Given the description of an element on the screen output the (x, y) to click on. 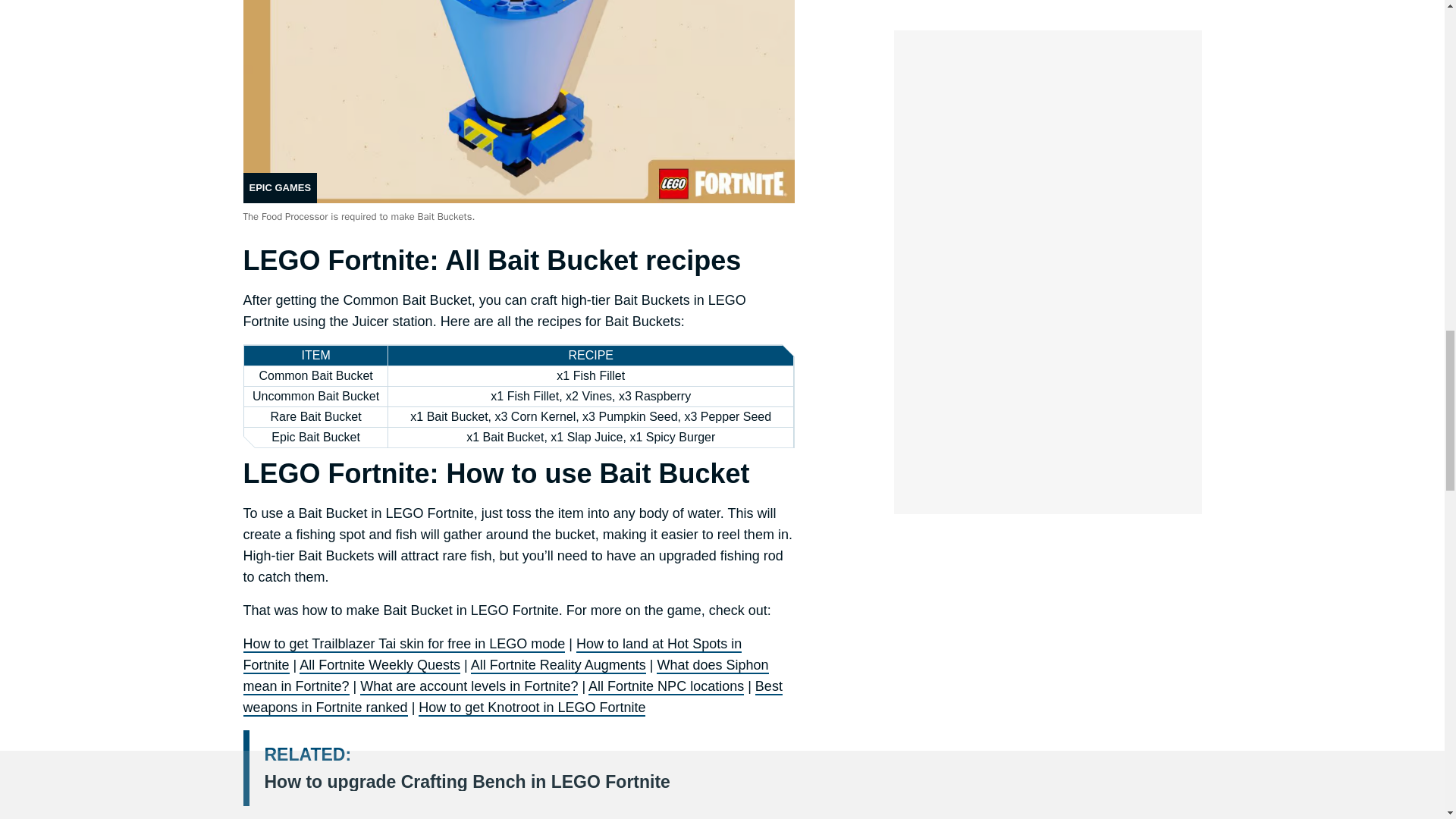
How to get Trailblazer Tai skin for free in LEGO mode (403, 644)
All Fortnite Weekly Quests (379, 665)
All Fortnite Reality Augments (558, 665)
How to land at Hot Spots in Fortnite (492, 655)
All Fortnite NPC locations (666, 686)
What are account levels in Fortnite? (468, 686)
What does Siphon mean in Fortnite? (505, 676)
